Given the description of an element on the screen output the (x, y) to click on. 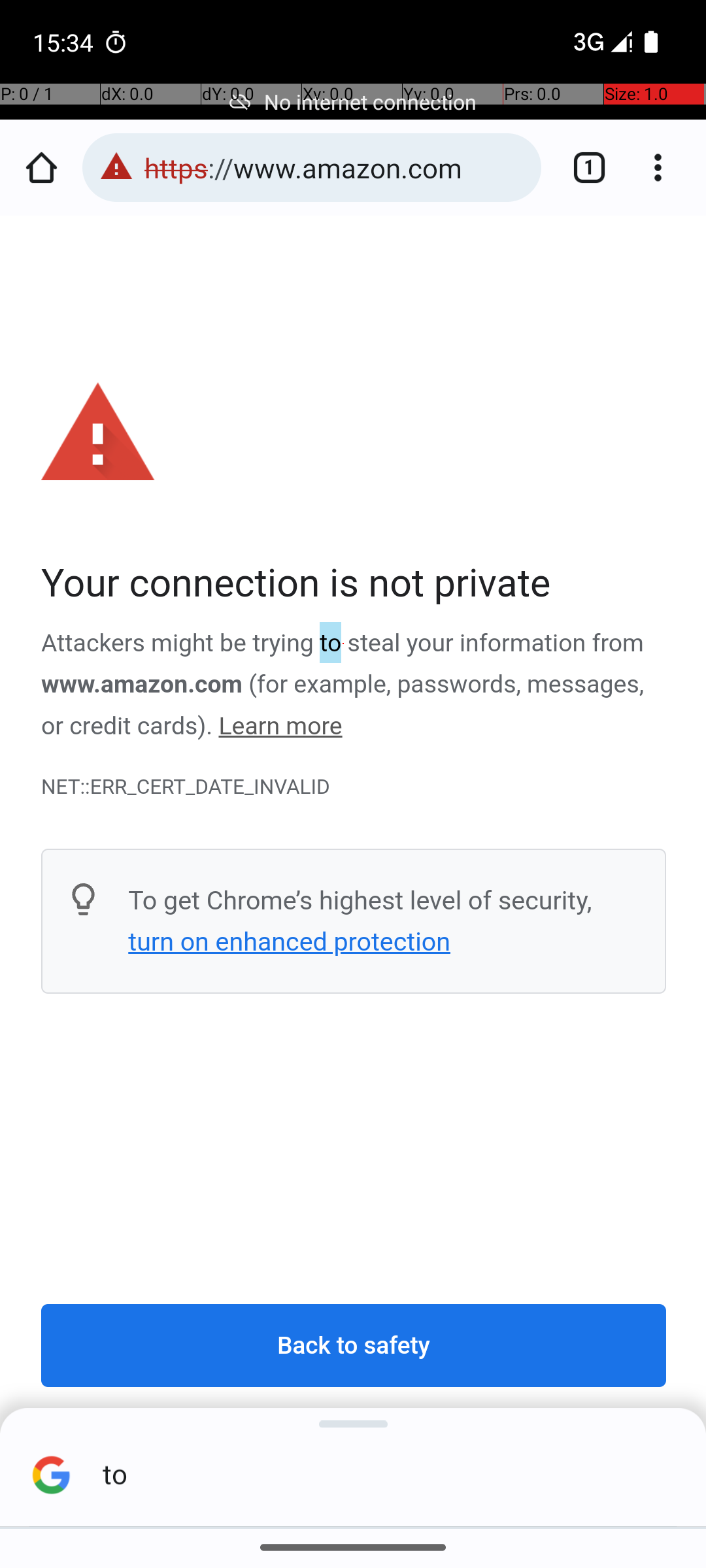
https://www.amazon.com Element type: android.widget.EditText (335, 167)
www.amazon.com Element type: android.widget.TextView (142, 684)
